Given the description of an element on the screen output the (x, y) to click on. 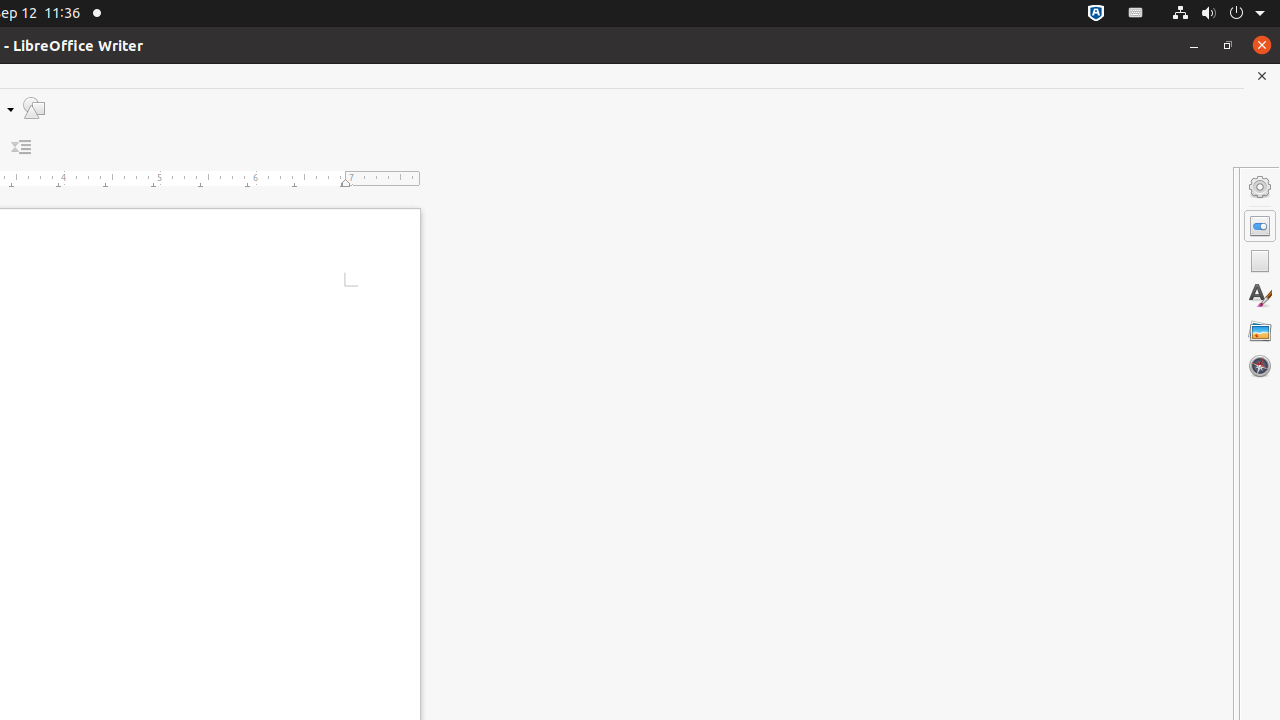
Properties Element type: radio-button (1260, 226)
Navigator Element type: radio-button (1260, 366)
Draw Functions Element type: push-button (33, 108)
Styles Element type: radio-button (1260, 296)
Decrease Element type: push-button (21, 147)
